Given the description of an element on the screen output the (x, y) to click on. 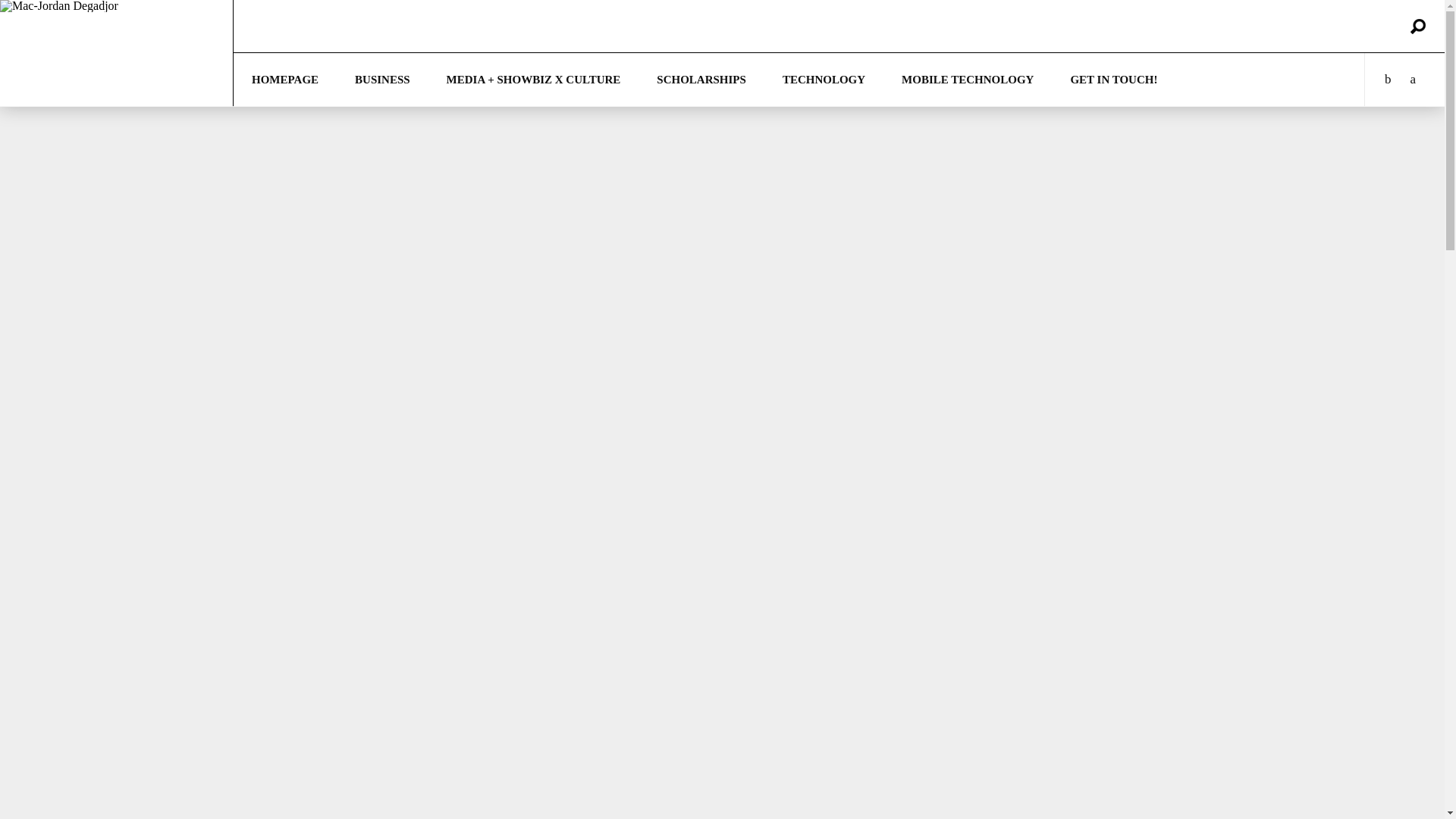
Homepage (284, 79)
BUSINESS (382, 79)
HOMEPAGE (284, 79)
